Given the description of an element on the screen output the (x, y) to click on. 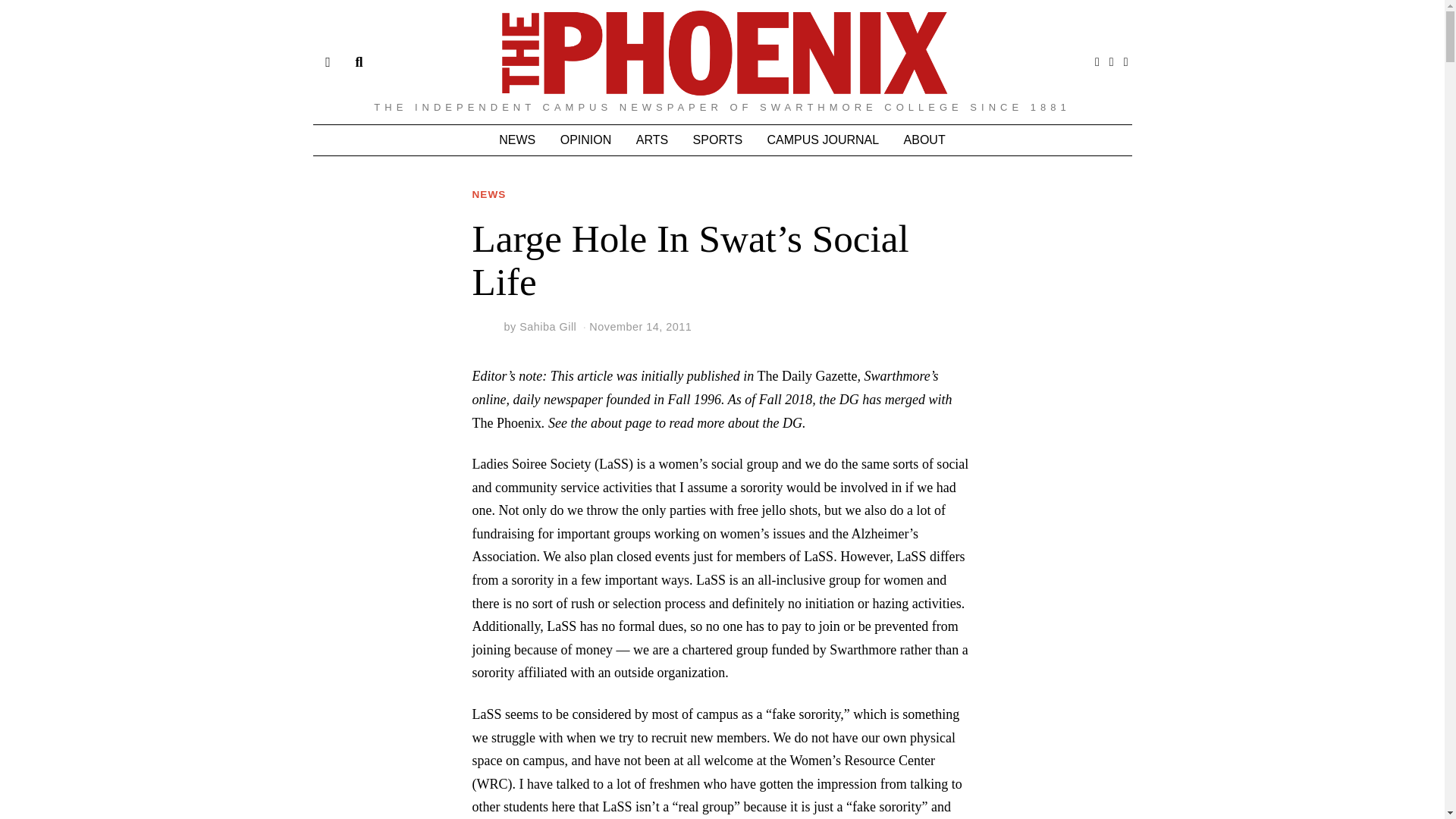
ABOUT (924, 140)
ARTS (652, 140)
SPORTS (718, 140)
Sahiba Gill (547, 326)
CAMPUS JOURNAL (823, 140)
Instagram (1111, 62)
Twitter (1096, 62)
NEWS (516, 140)
OPINION (586, 140)
NEWS (488, 195)
Email (1125, 62)
